Given the description of an element on the screen output the (x, y) to click on. 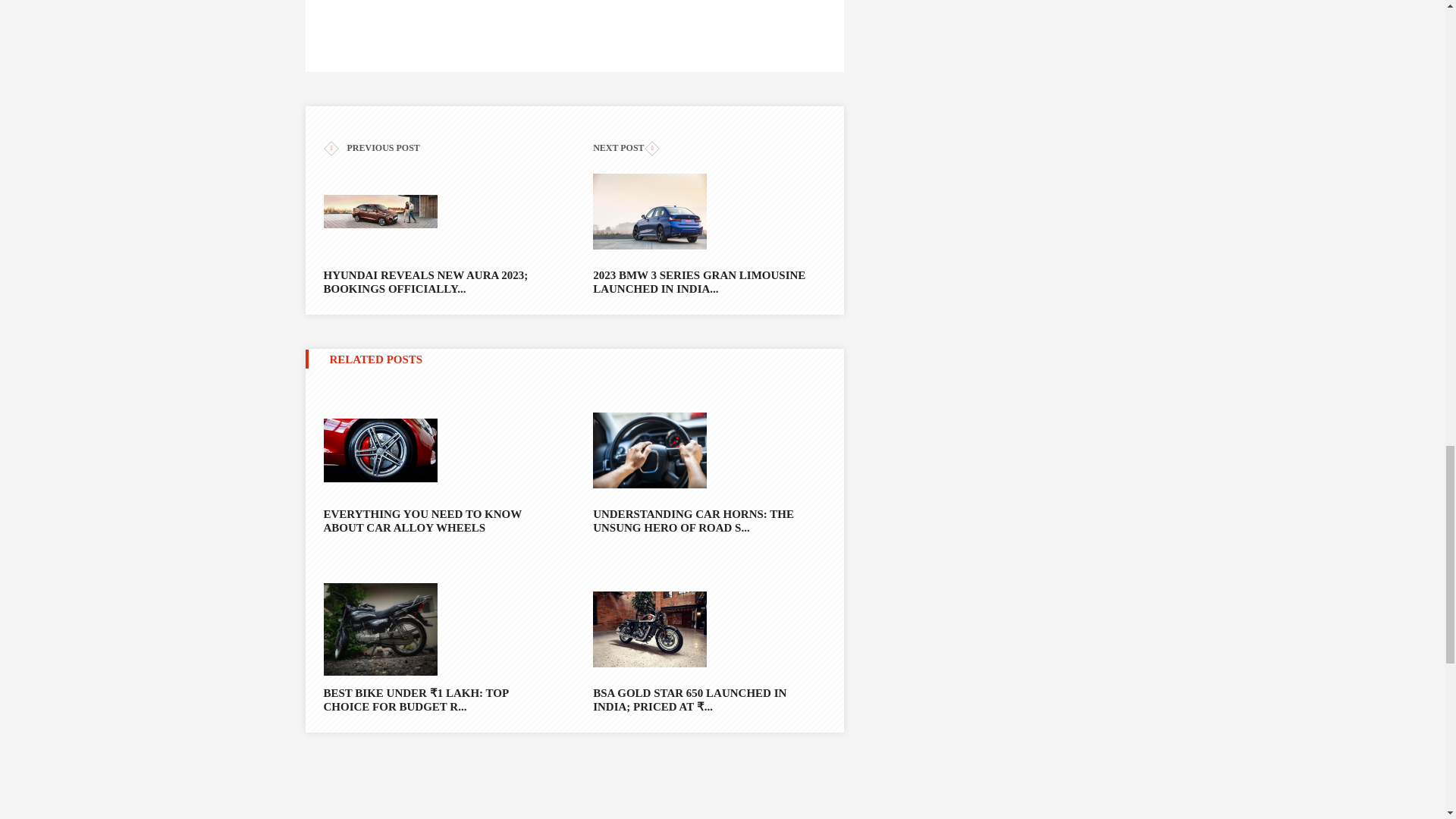
HYUNDAI REVEALS NEW AURA 2023; BOOKINGS OFFICIALLY... (438, 224)
2023 BMW 3 SERIES GRAN LIMOUSINE LAUNCHED IN INDIA... (708, 224)
EVERYTHING YOU NEED TO KNOW ABOUT CAR ALLOY WHEELS (438, 520)
PREVIOUS POST (438, 147)
UNDERSTANDING CAR HORNS: THE UNSUNG HERO OF ROAD S... (708, 520)
NEXT POST (708, 147)
